Given the description of an element on the screen output the (x, y) to click on. 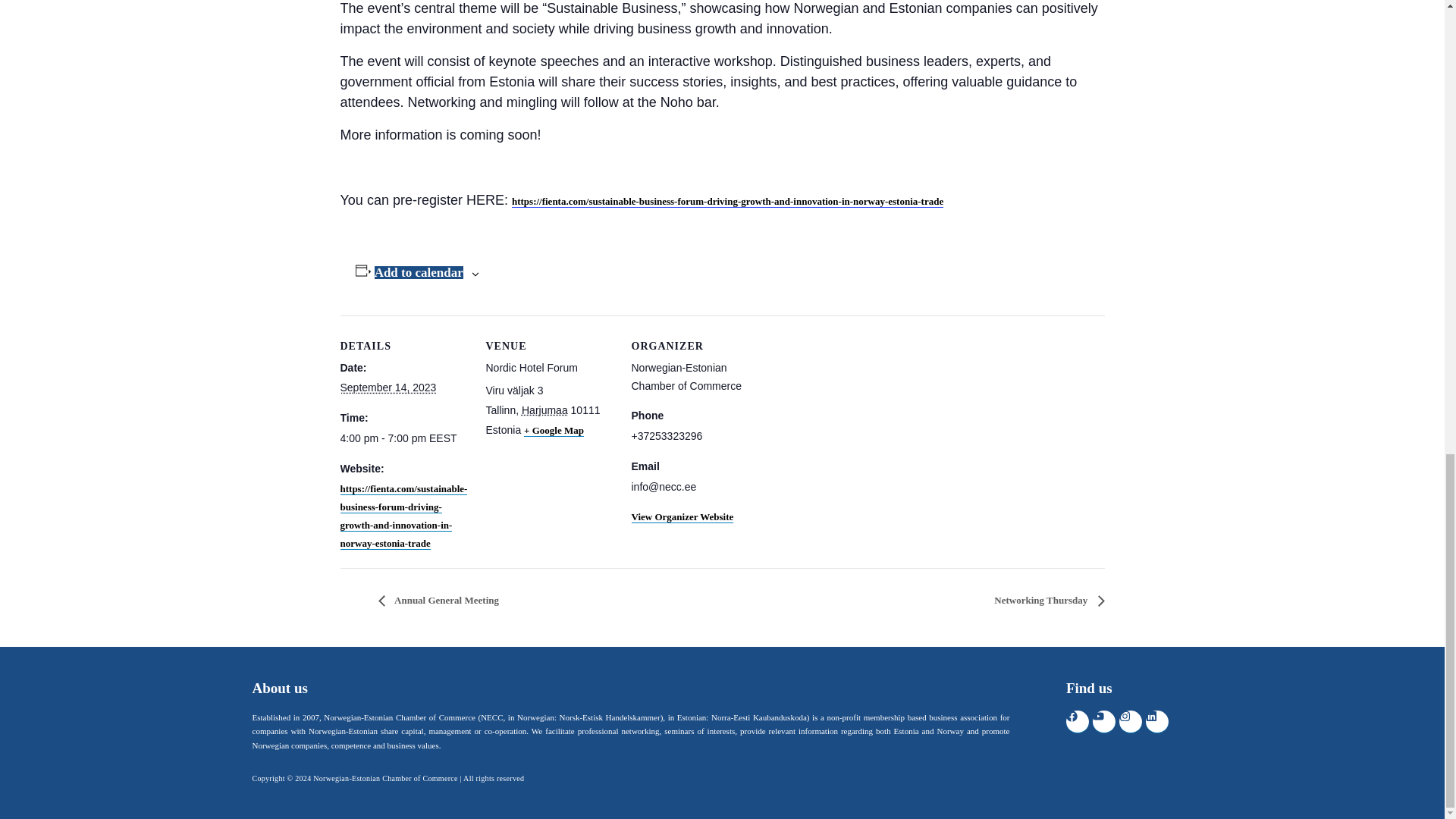
Networking Thursday (1044, 600)
Add to calendar (418, 272)
2023-09-14 (387, 387)
Click to view a Google Map (553, 430)
View Organizer Website (681, 517)
2023-09-14 (403, 438)
Harjumaa (544, 410)
Annual General Meeting (441, 600)
